Given the description of an element on the screen output the (x, y) to click on. 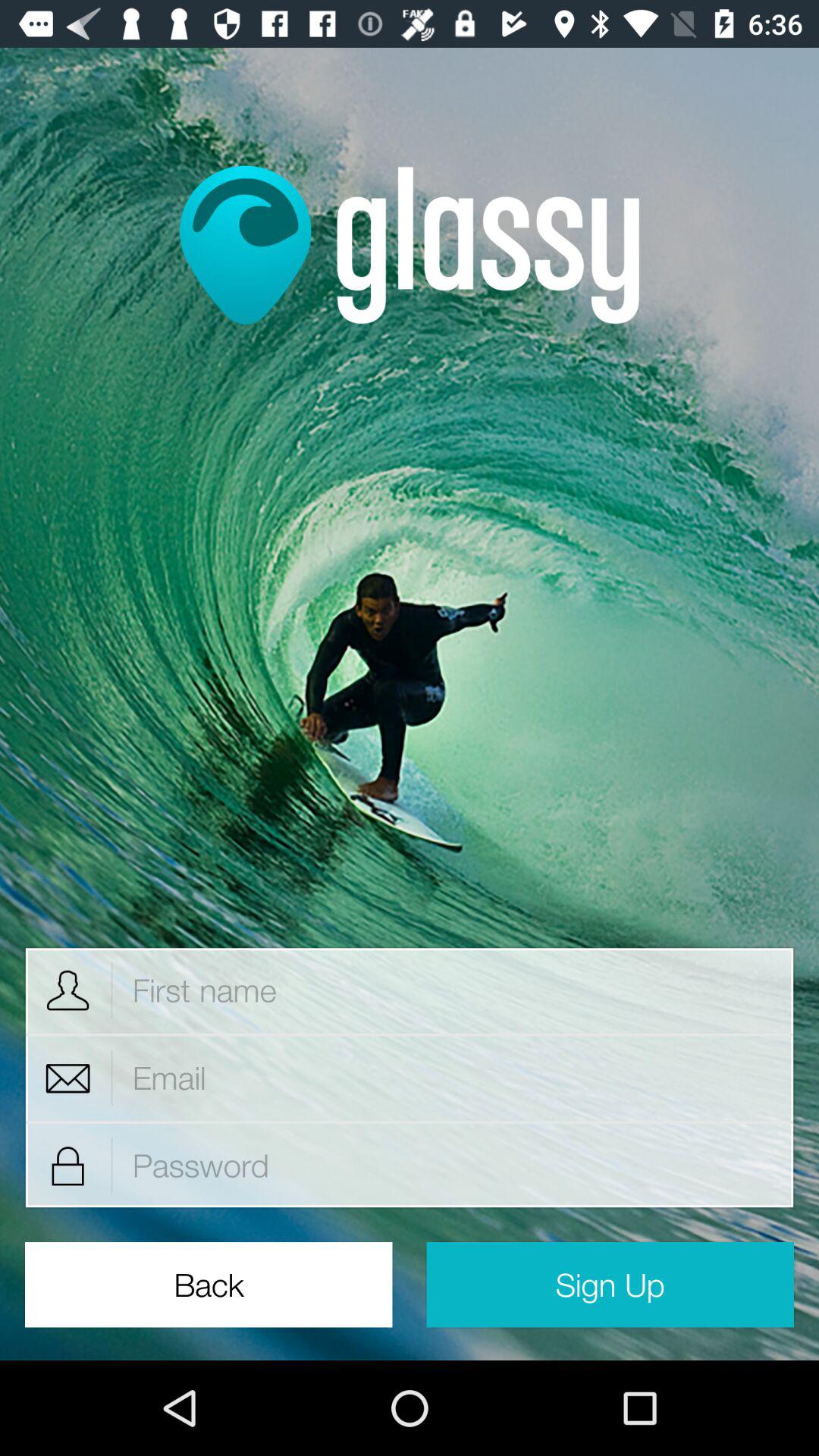
open sign up item (609, 1284)
